Given the description of an element on the screen output the (x, y) to click on. 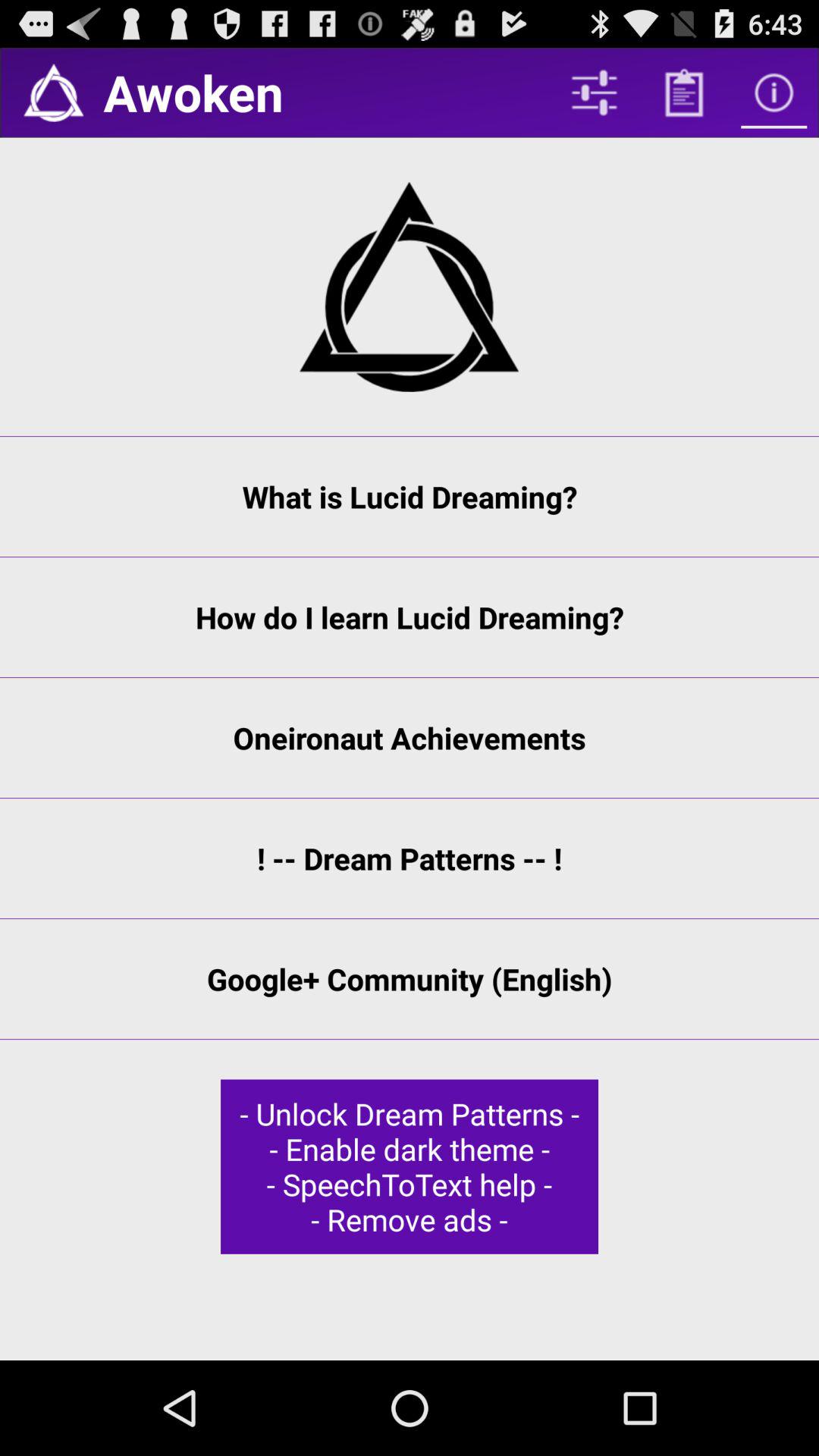
choose the icon next to awoken item (594, 92)
